Given the description of an element on the screen output the (x, y) to click on. 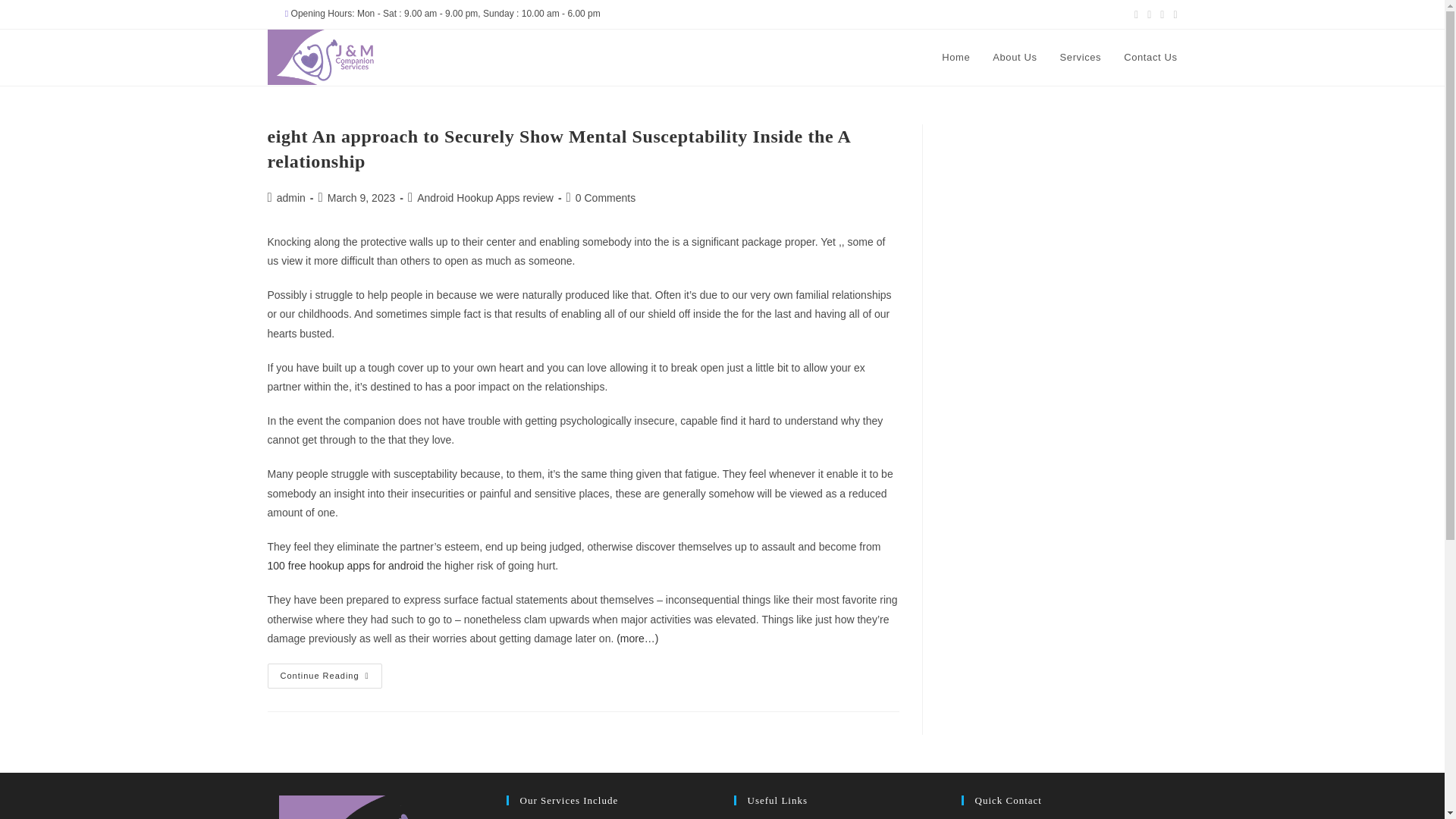
About Us (1014, 57)
Services (1080, 57)
Contact Us (1150, 57)
Posts by admin (290, 197)
Home (955, 57)
